Given the description of an element on the screen output the (x, y) to click on. 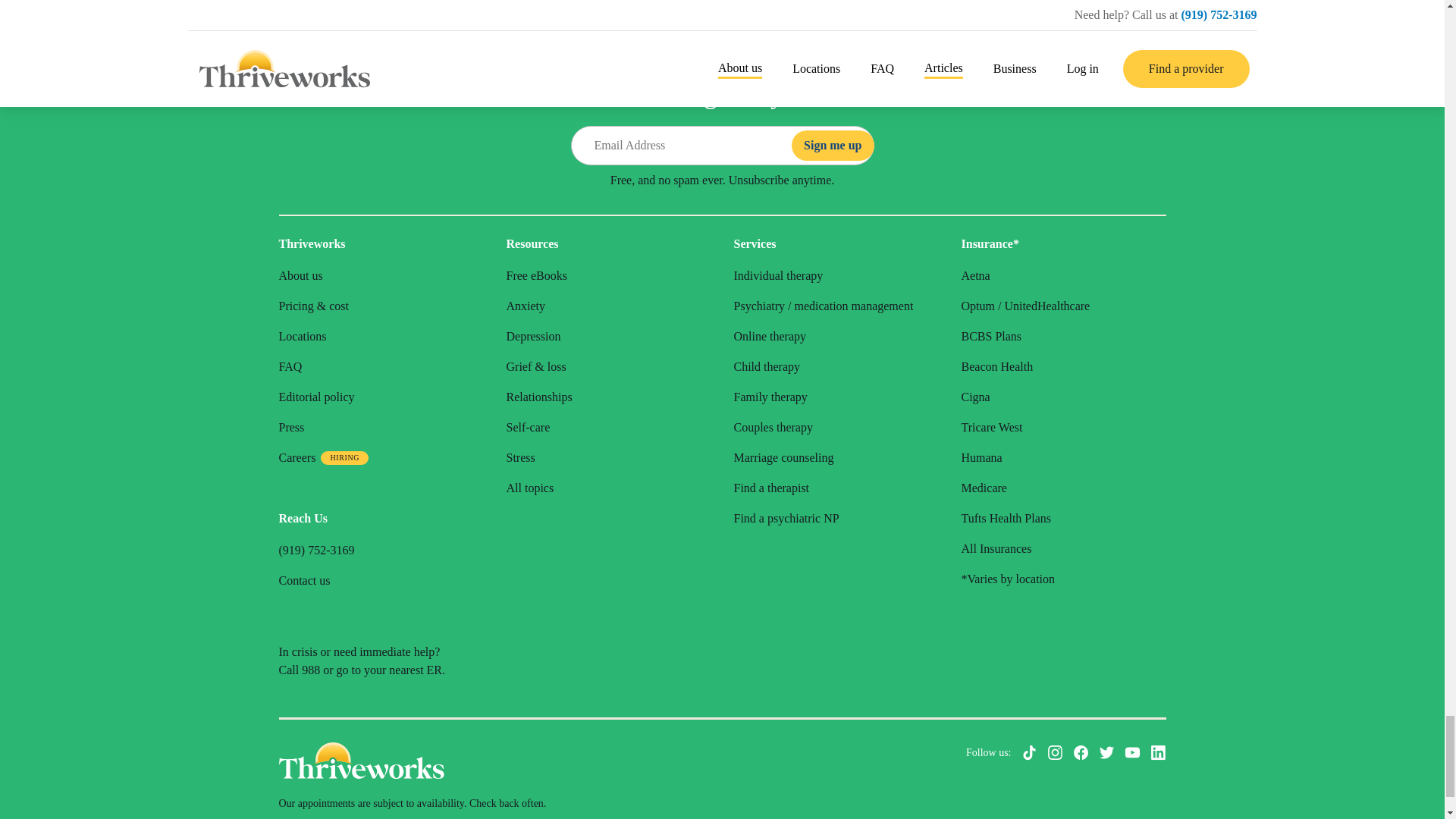
Sign me up (832, 145)
